Given the description of an element on the screen output the (x, y) to click on. 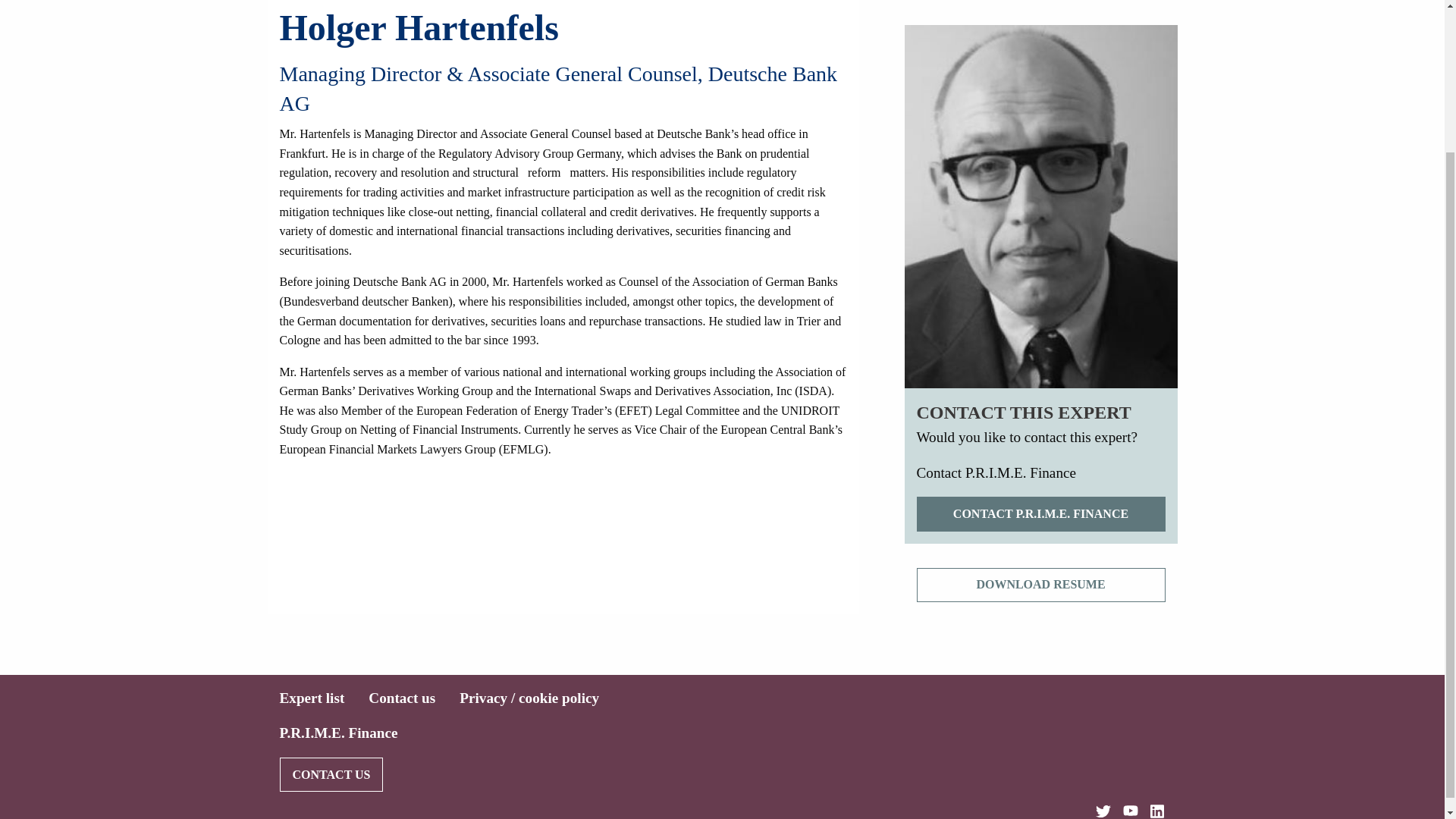
CONTACT P.R.I.M.E. FINANCE (1039, 513)
Expert list (311, 697)
DOWNLOAD RESUME (1039, 584)
Contact us (401, 697)
